Given the description of an element on the screen output the (x, y) to click on. 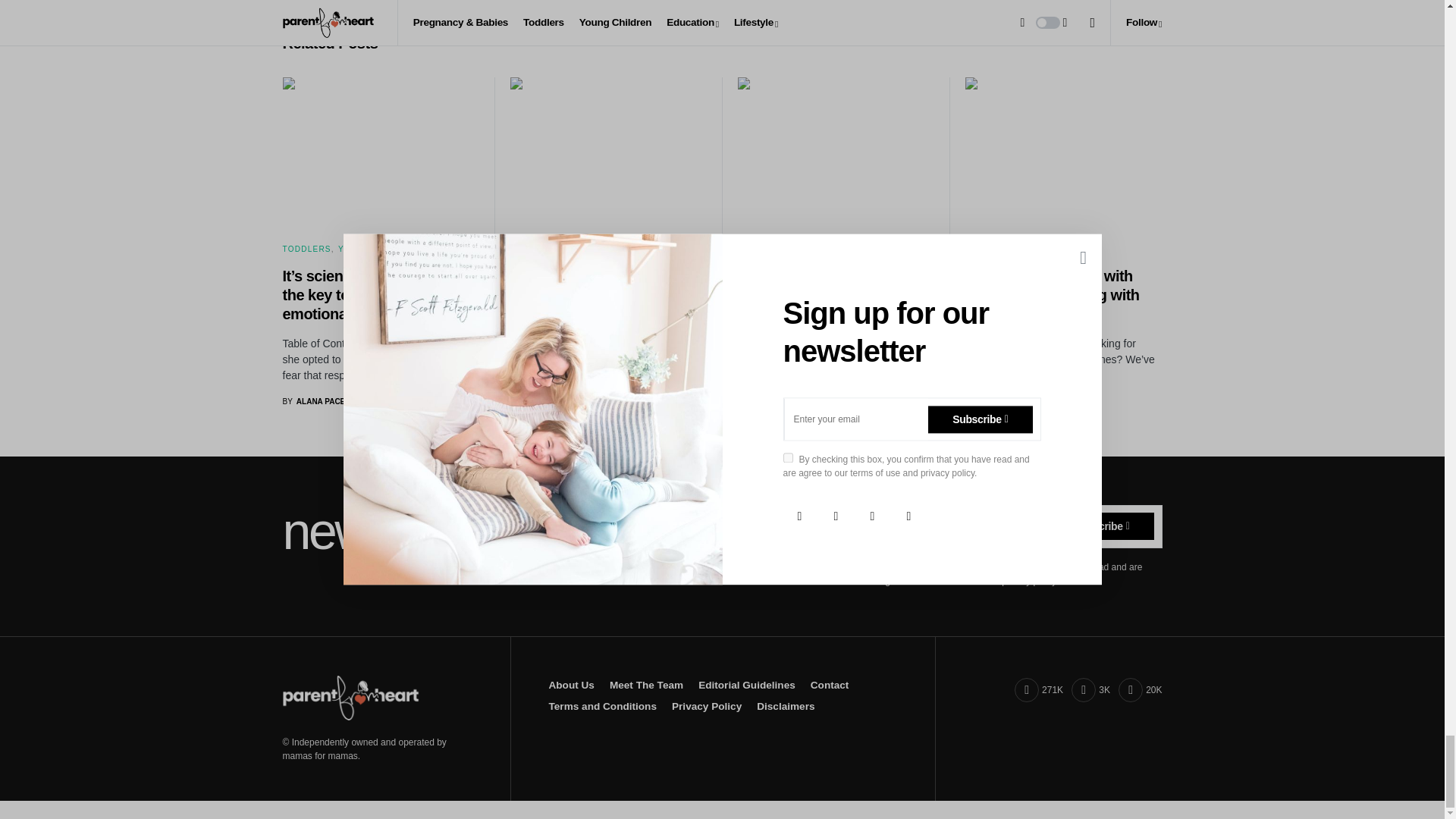
on (884, 565)
View all posts by Jewel Joven (997, 401)
View all posts by Alana Pace (540, 414)
View all posts by Alana Pace (767, 401)
View all posts by Alana Pace (313, 401)
